Given the description of an element on the screen output the (x, y) to click on. 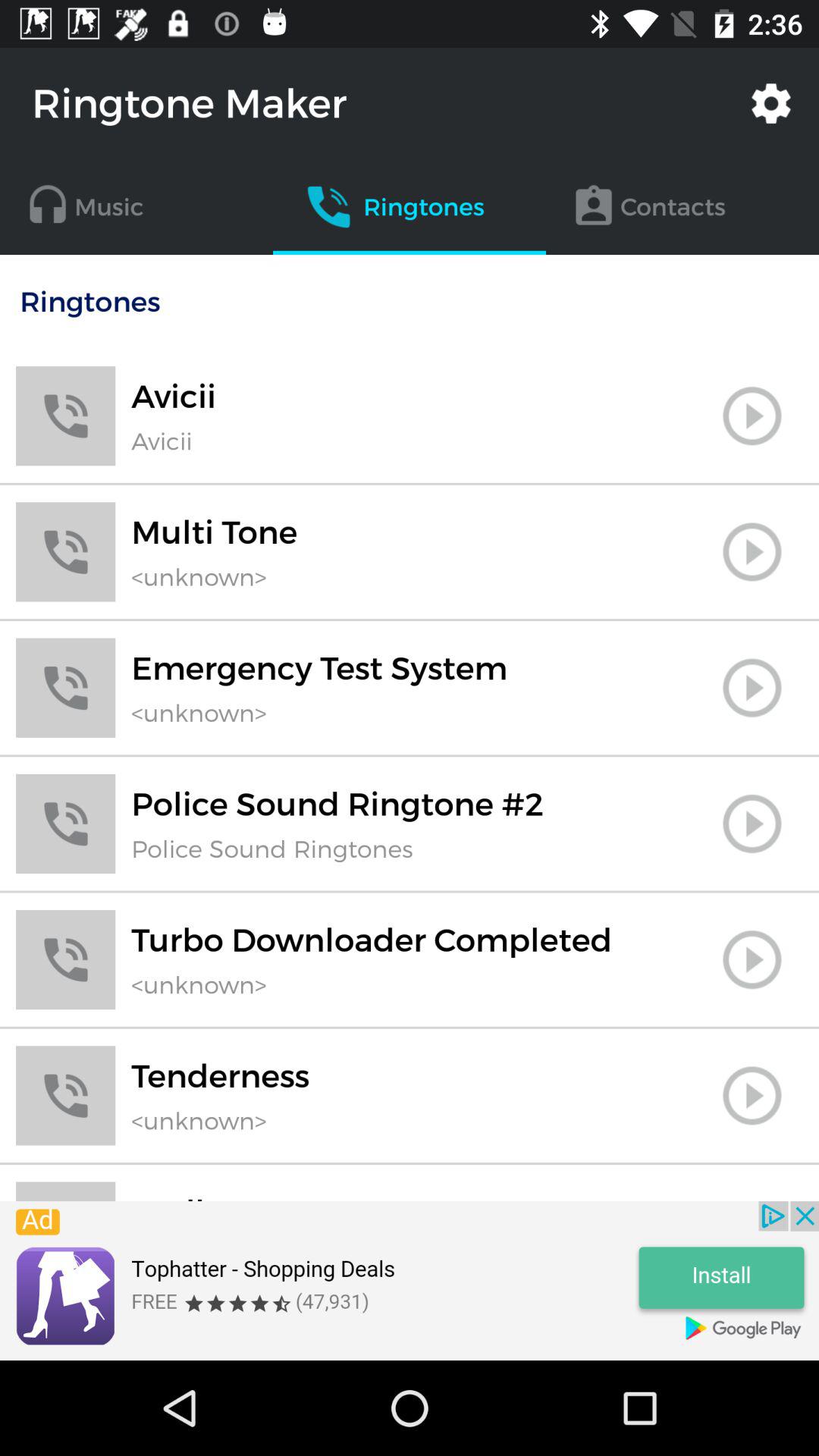
play button (752, 823)
